Given the description of an element on the screen output the (x, y) to click on. 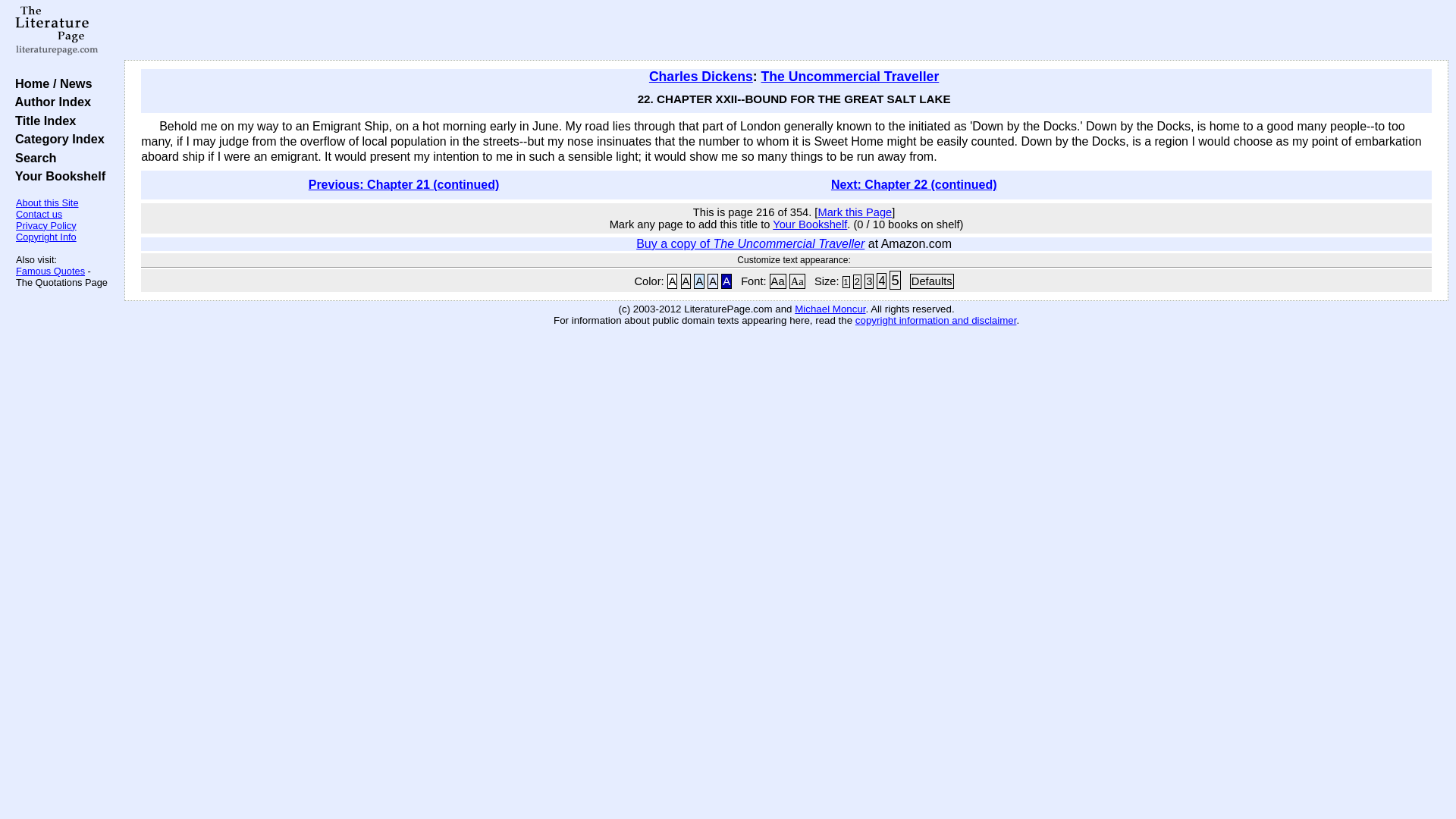
A (712, 281)
Color 5 (726, 281)
4 (881, 280)
  Author Index (49, 101)
Michael Moncur (829, 308)
  Category Index (56, 138)
A (672, 281)
Color 2 (686, 281)
Size 5 (894, 280)
Reset to Defaults (931, 281)
Defaults (931, 281)
  Title Index (41, 120)
Your Bookshelf (810, 224)
Charles Dickens (700, 76)
Color 4 (712, 281)
